Given the description of an element on the screen output the (x, y) to click on. 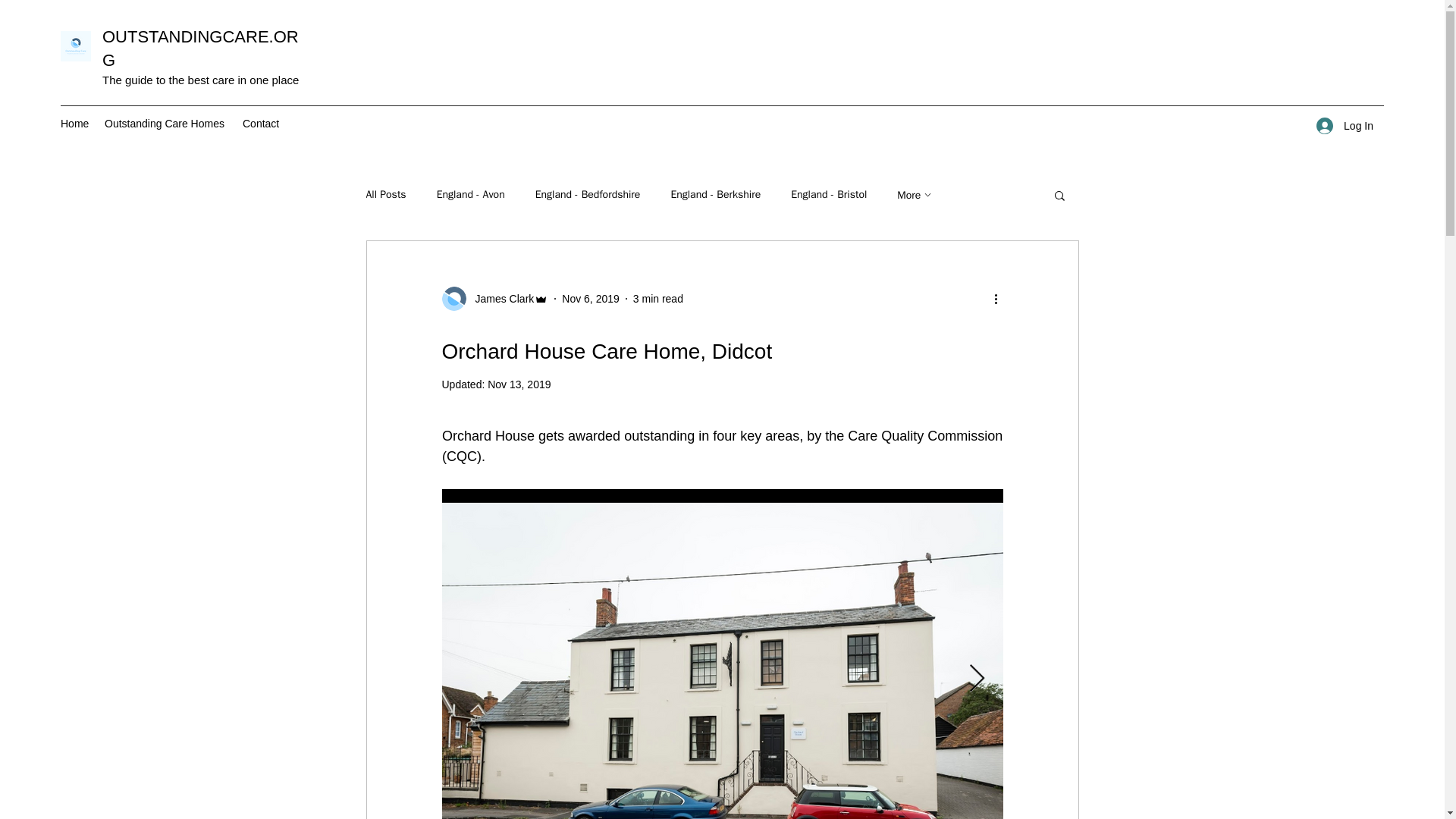
Log In (1345, 126)
Site Search (964, 123)
3 min read (657, 298)
OUTSTANDINGCARE.ORG (199, 48)
Outstanding Care Homes (165, 123)
James Clark (494, 298)
Home (74, 123)
All Posts (385, 194)
England - Bristol (828, 194)
James Clark (499, 299)
England - Berkshire (714, 194)
England - Avon (470, 194)
Nov 6, 2019 (591, 298)
England - Bedfordshire (587, 194)
Nov 13, 2019 (518, 384)
